Given the description of an element on the screen output the (x, y) to click on. 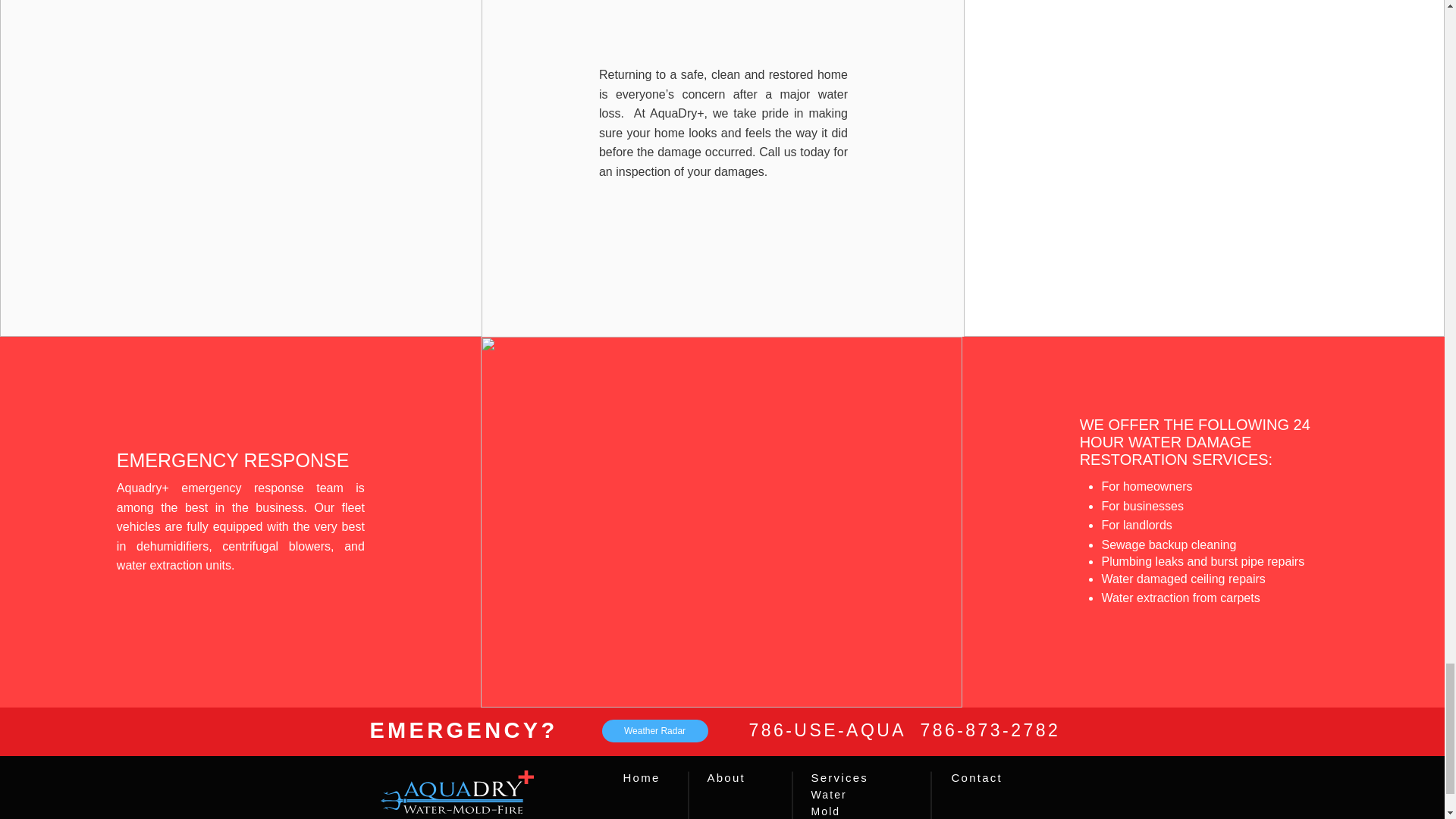
Water damaged ceiling repairs (1182, 578)
Water (828, 794)
786-USE-AQUA  (834, 730)
Sewage backup cleaning (1168, 544)
Contact (975, 777)
Plumbing leaks and burst pipe repairs (1202, 561)
For homeowners (1146, 486)
786-873-2782 (989, 730)
For landlords (1136, 524)
Home (642, 777)
